Given the description of an element on the screen output the (x, y) to click on. 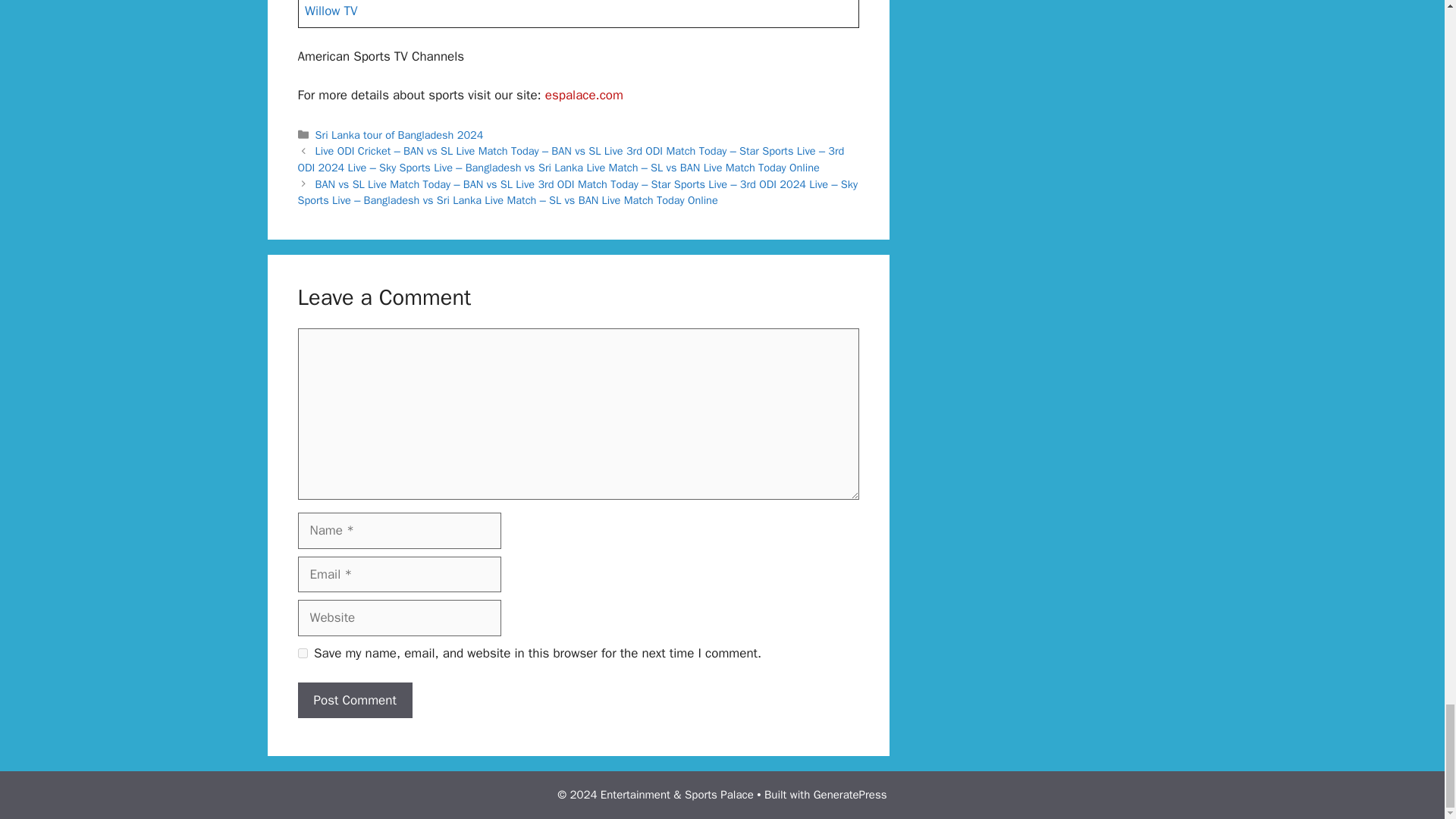
espalace.com (583, 94)
Post Comment (354, 700)
Willow TV (331, 10)
yes (302, 653)
Post Comment (354, 700)
Sri Lanka tour of Bangladesh 2024 (399, 134)
